Given the description of an element on the screen output the (x, y) to click on. 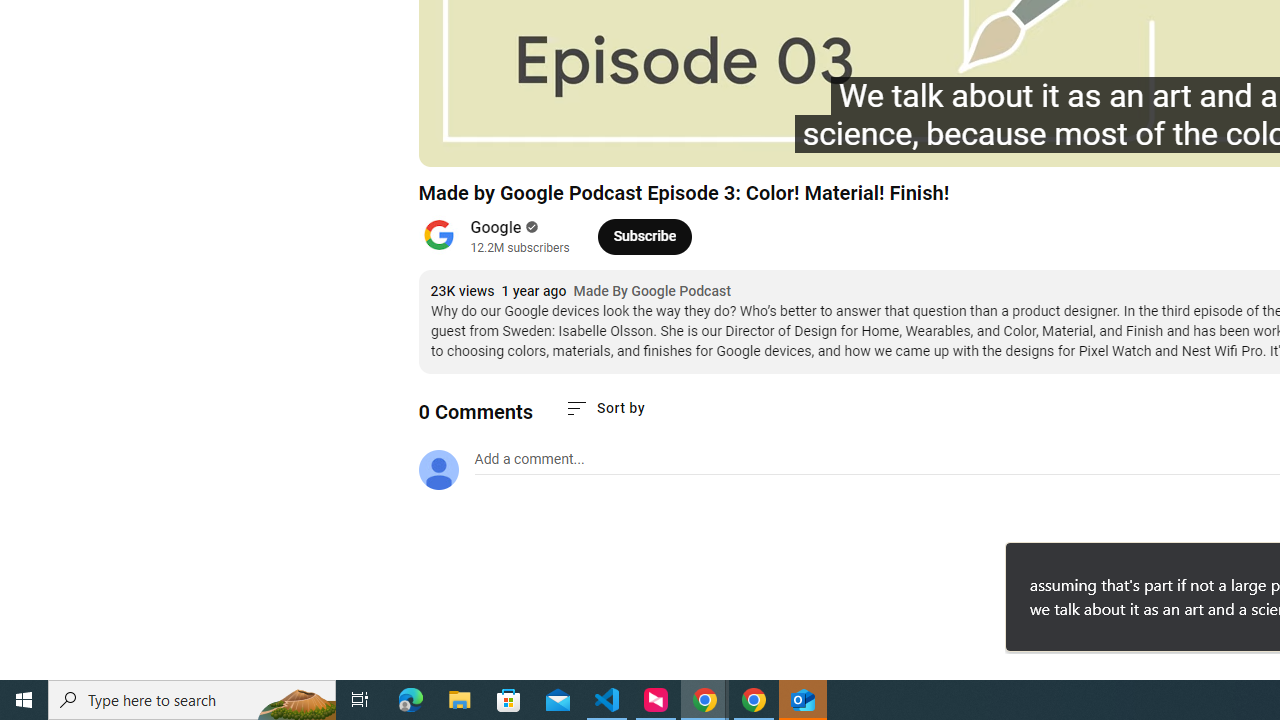
Google (496, 227)
Task View (359, 699)
Made By Google Podcast (651, 291)
Sort comments (604, 408)
Visual Studio Code - 1 running window (607, 699)
Microsoft Store (509, 699)
Subscribe to Google. (644, 236)
Pause (k) (453, 142)
File Explorer (460, 699)
